Given the description of an element on the screen output the (x, y) to click on. 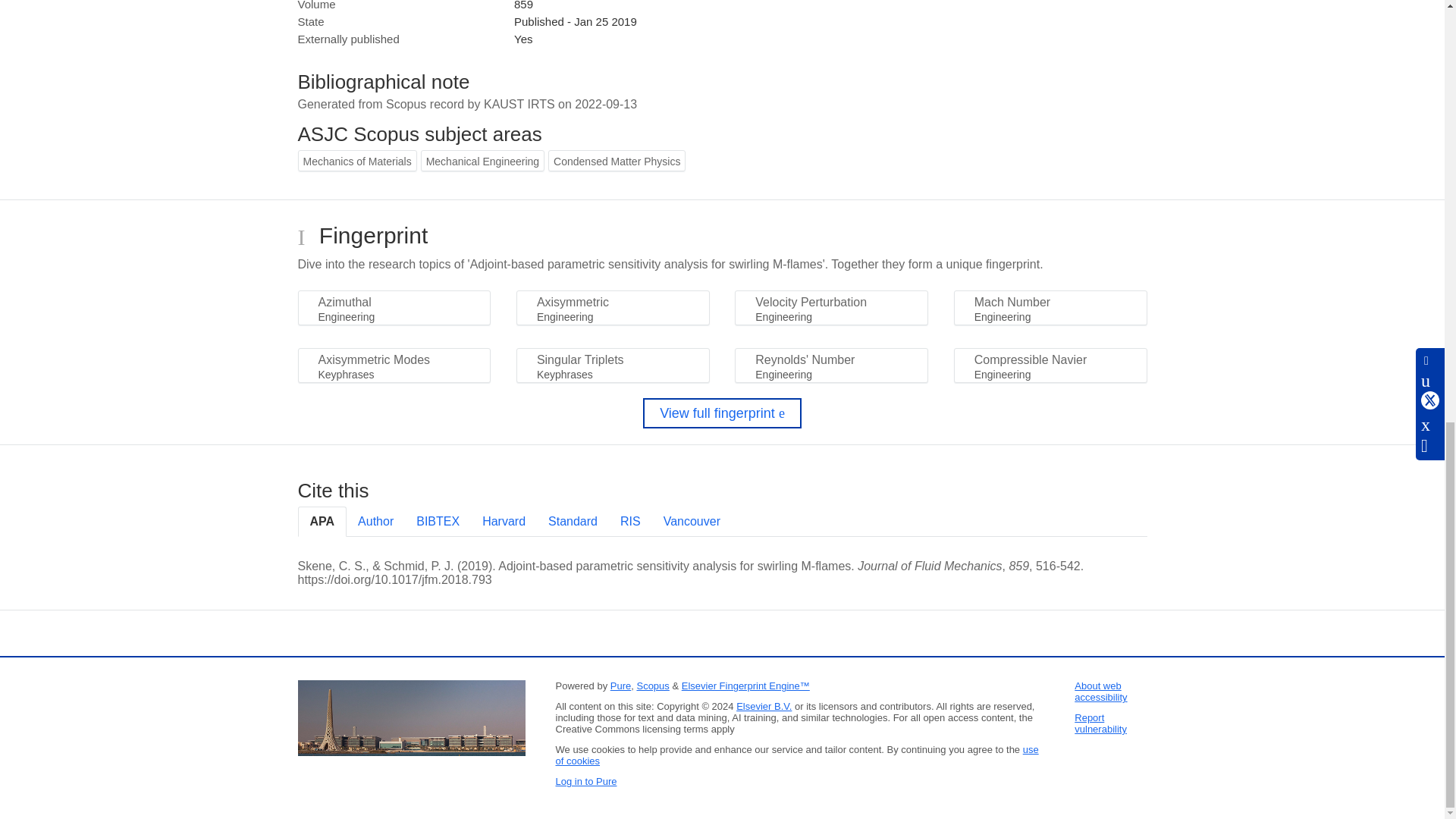
View full fingerprint (722, 413)
Scopus (652, 685)
Pure (620, 685)
